Given the description of an element on the screen output the (x, y) to click on. 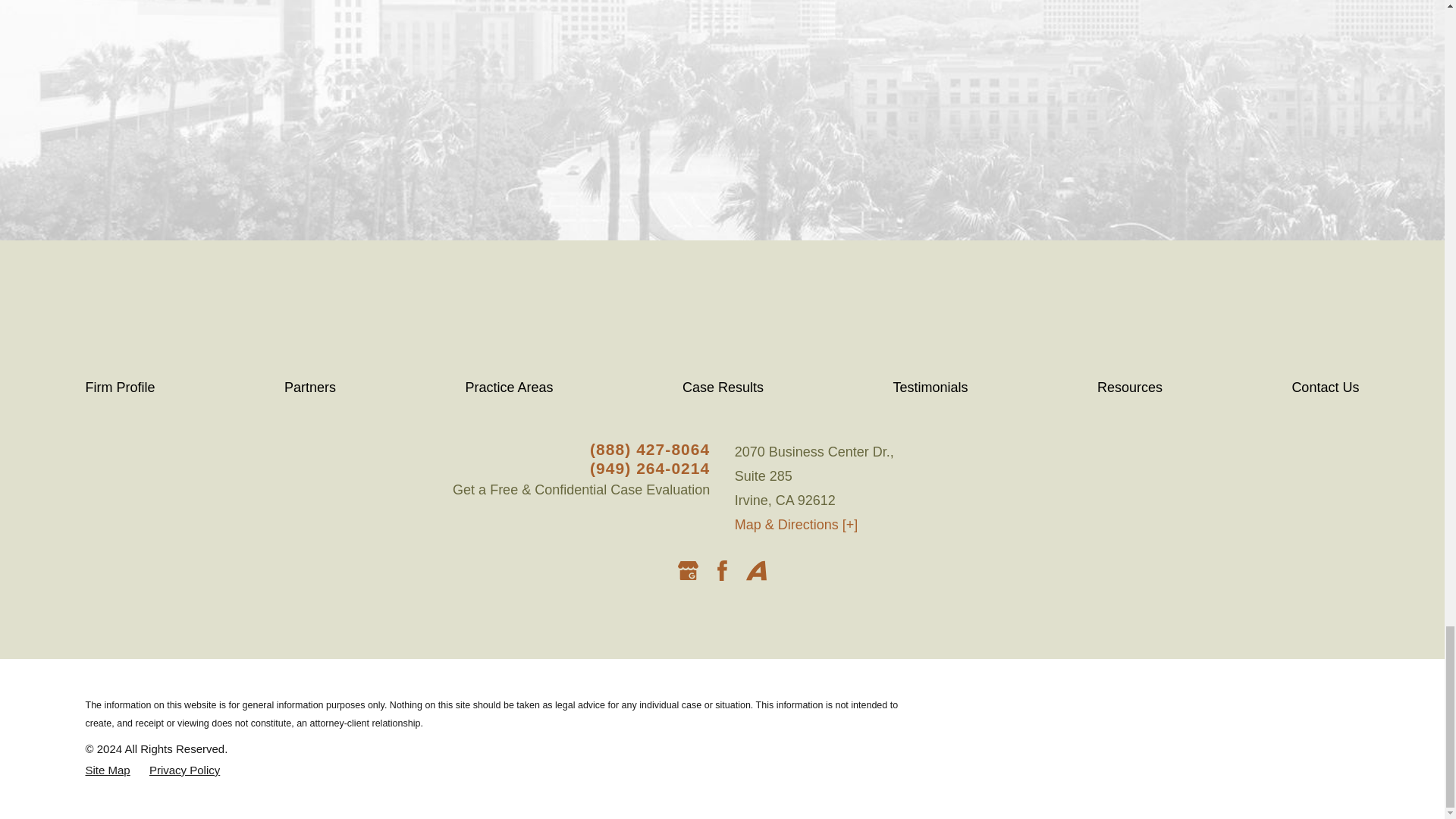
Facebook (721, 570)
Avvo (756, 570)
Google Business Profile (688, 570)
